Given the description of an element on the screen output the (x, y) to click on. 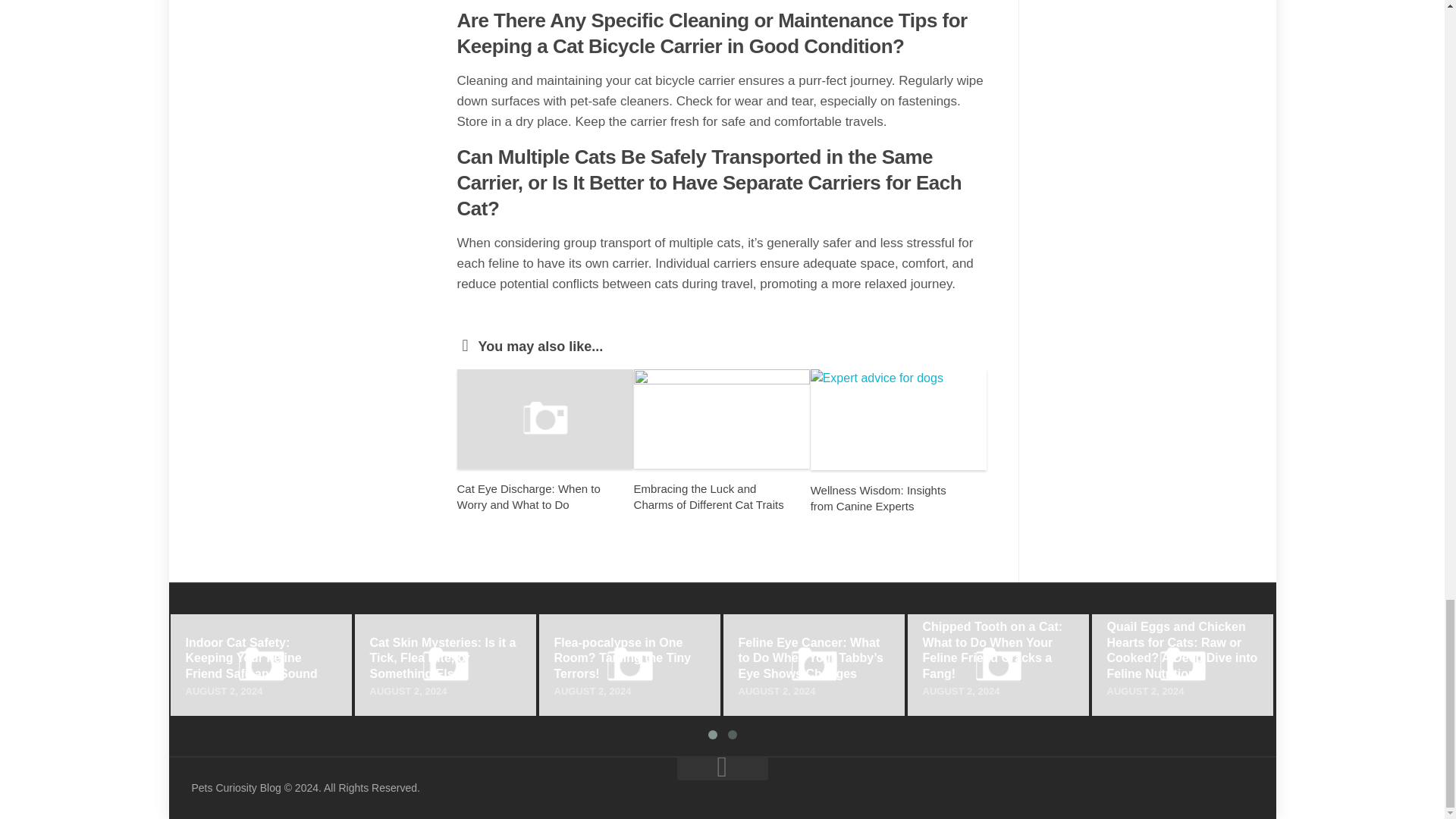
Cat Eye Discharge: When to Worry and What to Do (528, 496)
Embracing the Luck and Charms of Different Cat Traits (708, 496)
Wellness Wisdom: Insights from Canine Experts (878, 498)
